Given the description of an element on the screen output the (x, y) to click on. 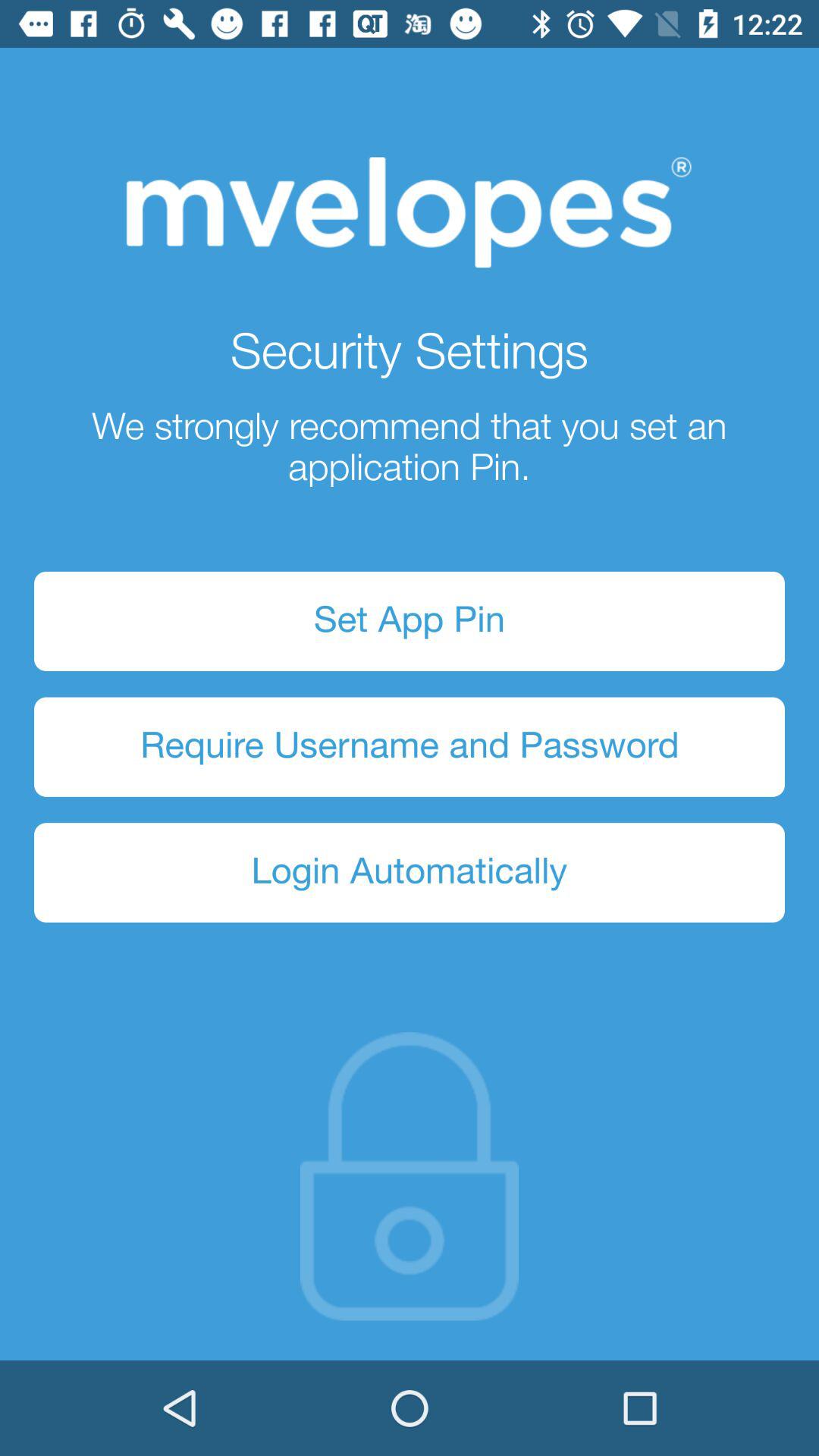
flip until the require username and icon (409, 746)
